Given the description of an element on the screen output the (x, y) to click on. 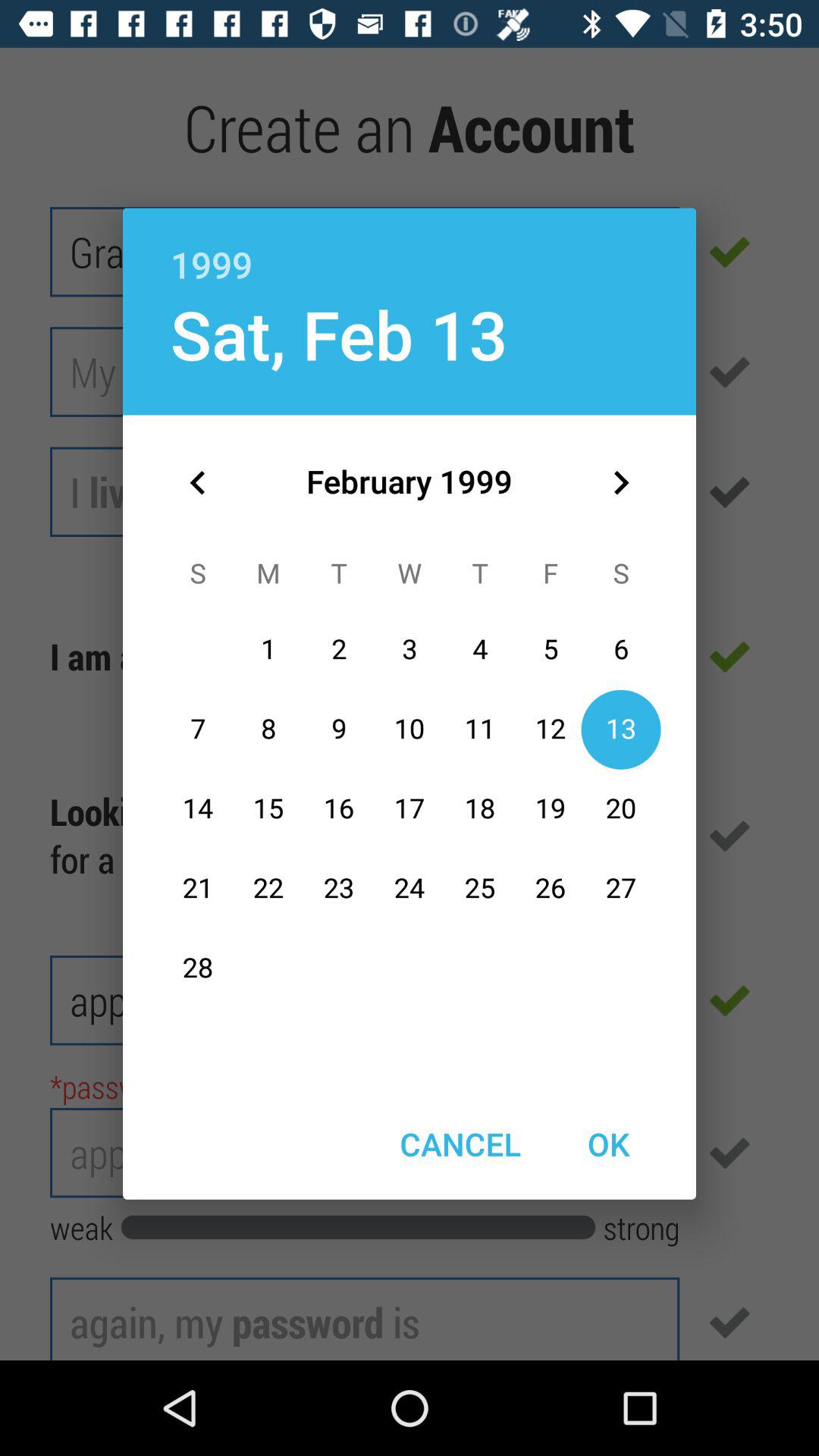
choose item above sat, feb 13 item (409, 248)
